Given the description of an element on the screen output the (x, y) to click on. 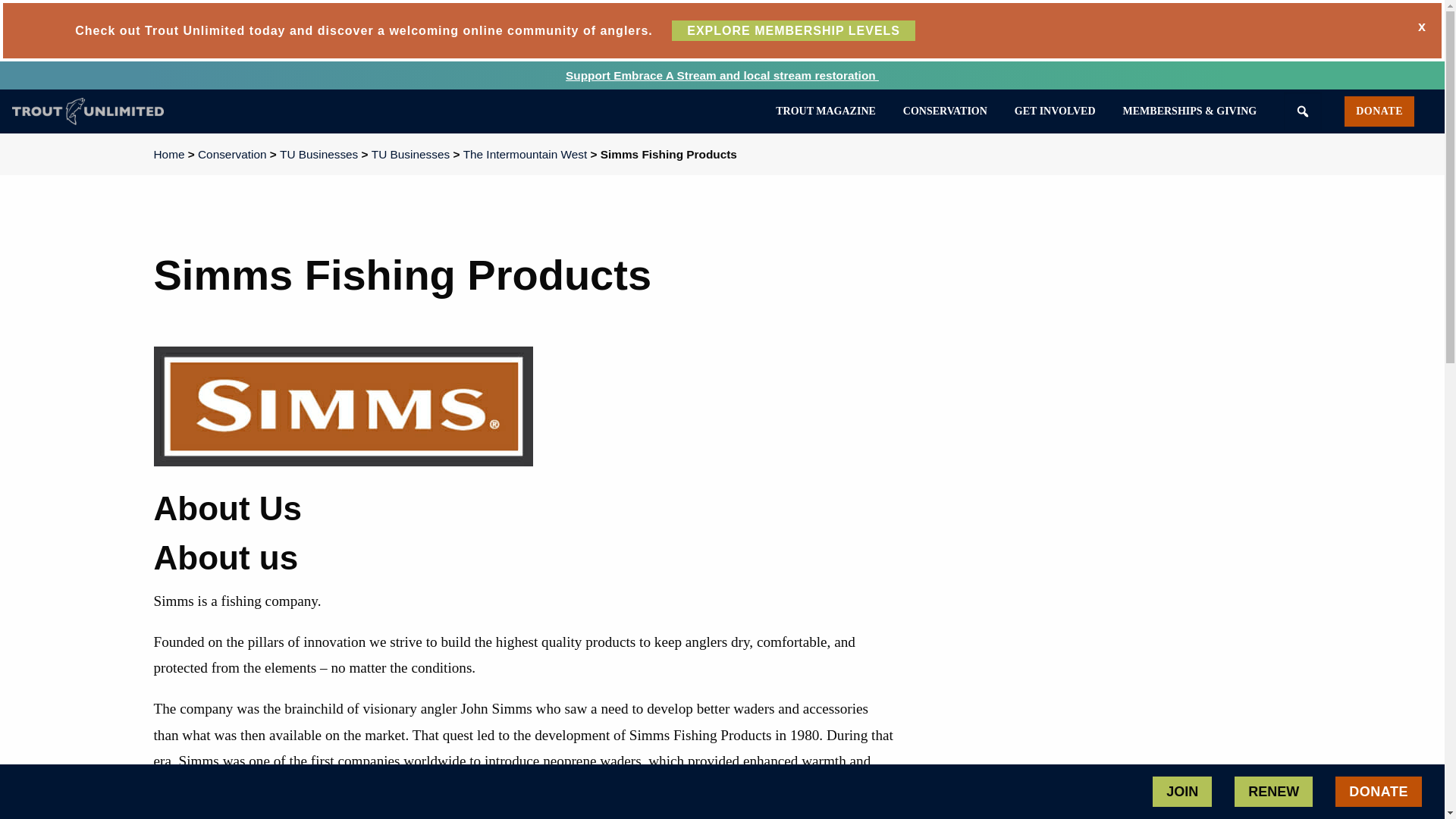
Go to the The Intermountain West Place archives. (525, 154)
Go to Conservation. (232, 154)
Go to TU Businesses. (318, 154)
Go to TU Businesses. (410, 154)
Go to Trout Unlimited. (168, 154)
